Given the description of an element on the screen output the (x, y) to click on. 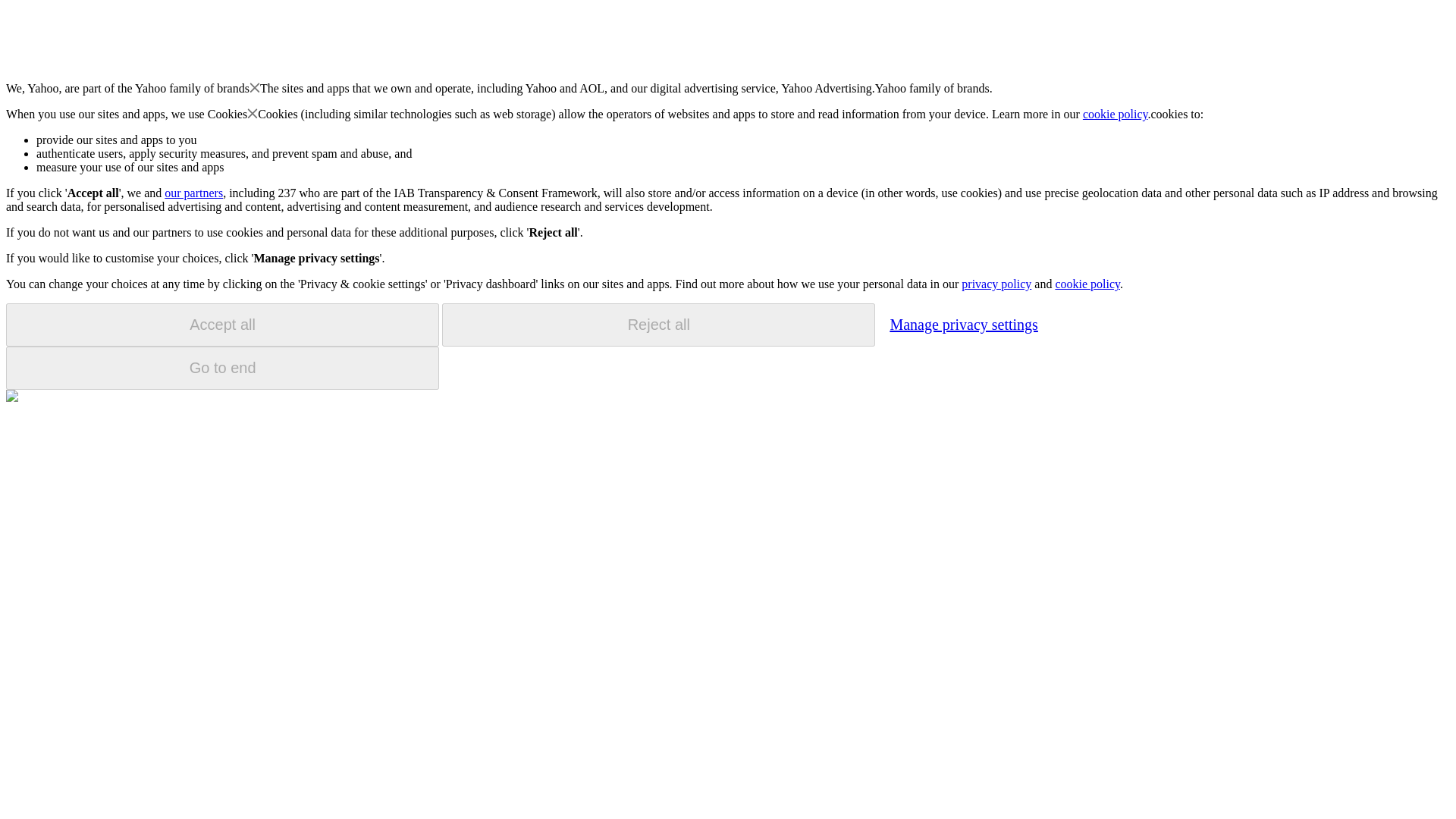
Reject all (658, 324)
privacy policy (995, 283)
Go to end (222, 367)
cookie policy (1115, 113)
Accept all (222, 324)
cookie policy (1086, 283)
Manage privacy settings (963, 323)
our partners (193, 192)
